Given the description of an element on the screen output the (x, y) to click on. 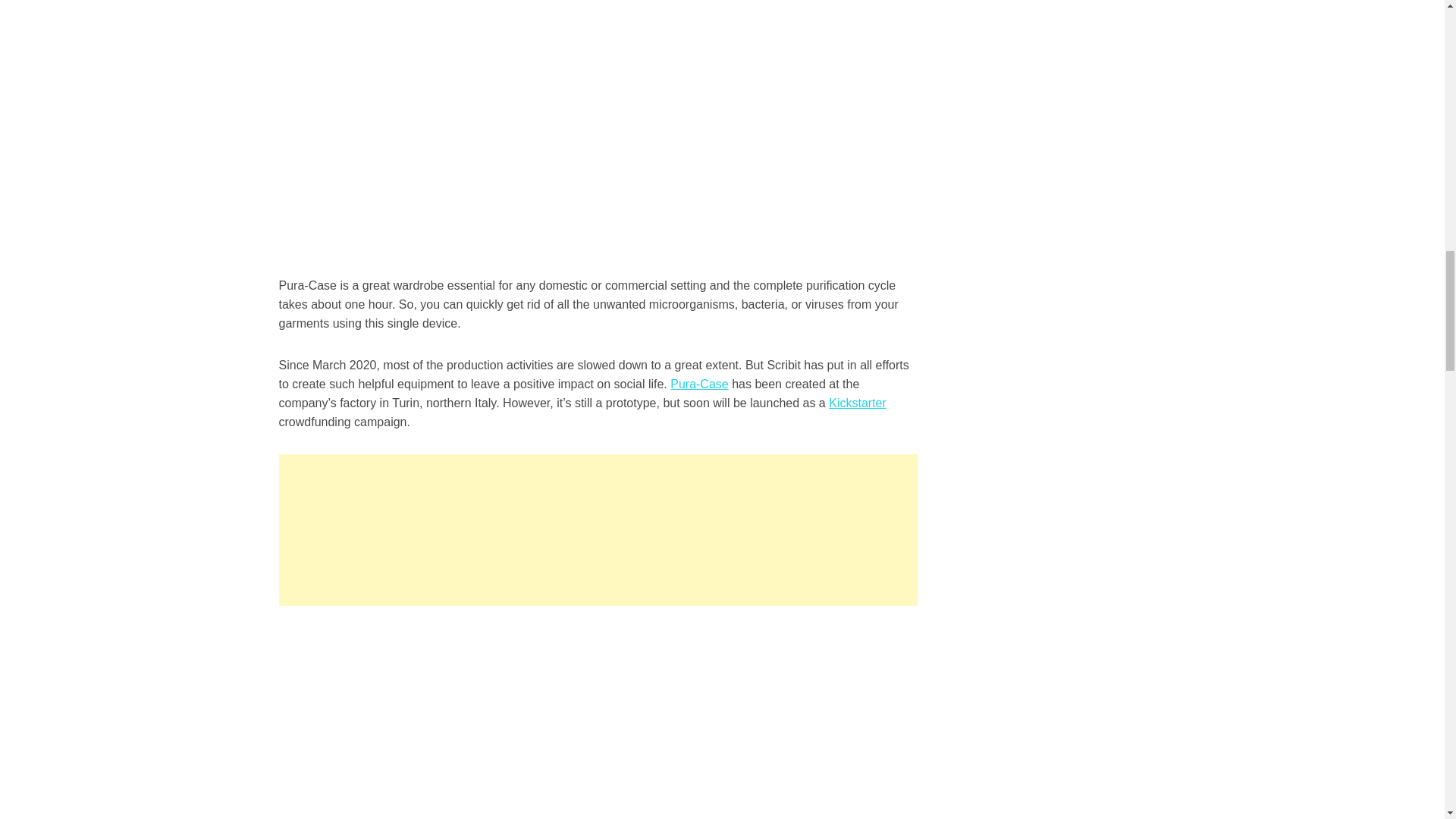
Kickstarter (857, 402)
Pura-Case (698, 383)
